Given the description of an element on the screen output the (x, y) to click on. 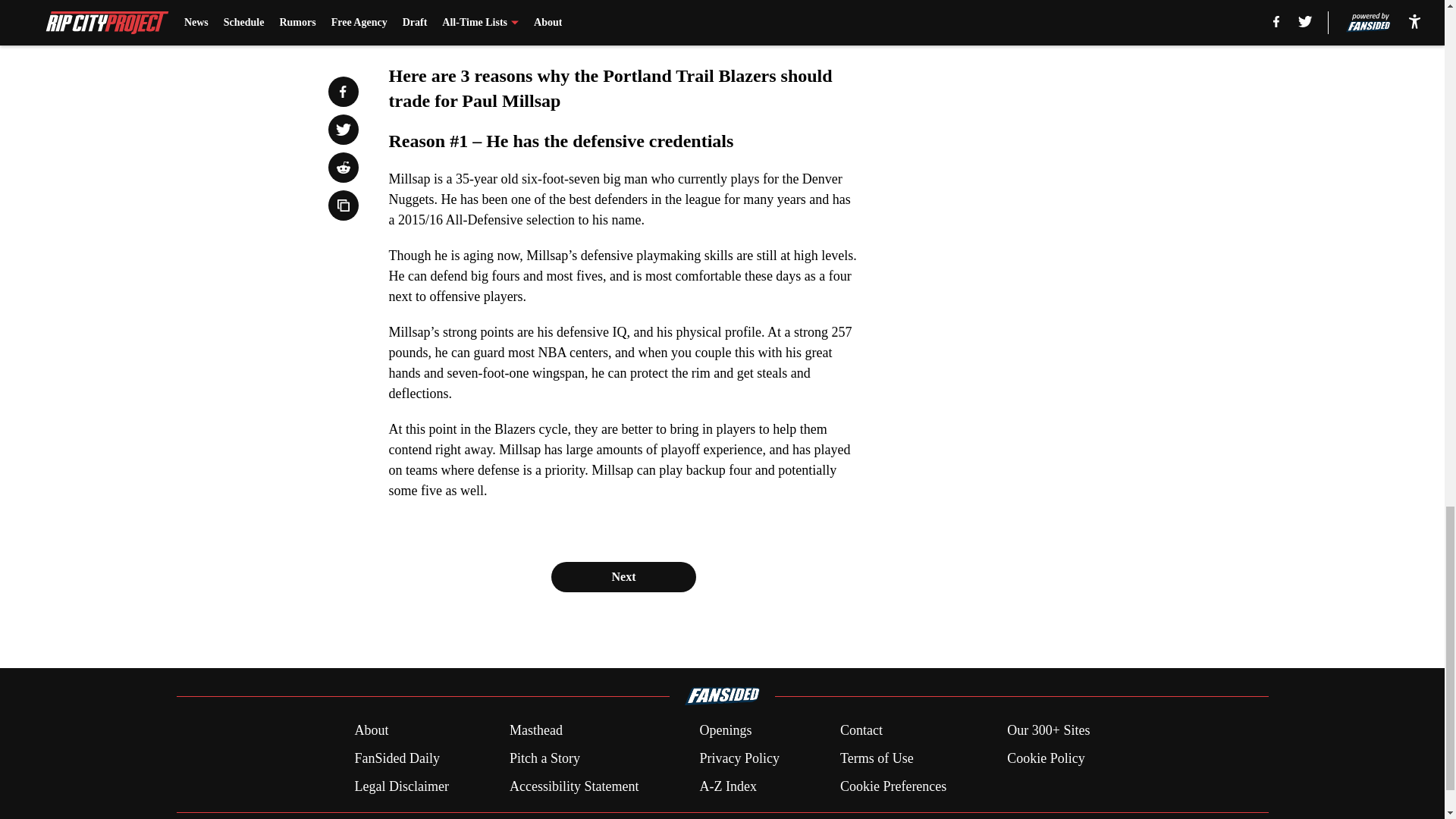
Openings (724, 730)
Paul Millsap (707, 17)
About (370, 730)
Pitch a Story (544, 758)
Privacy Policy (738, 758)
Next (622, 576)
FanSided Daily (396, 758)
Masthead (535, 730)
Contact (861, 730)
